Given the description of an element on the screen output the (x, y) to click on. 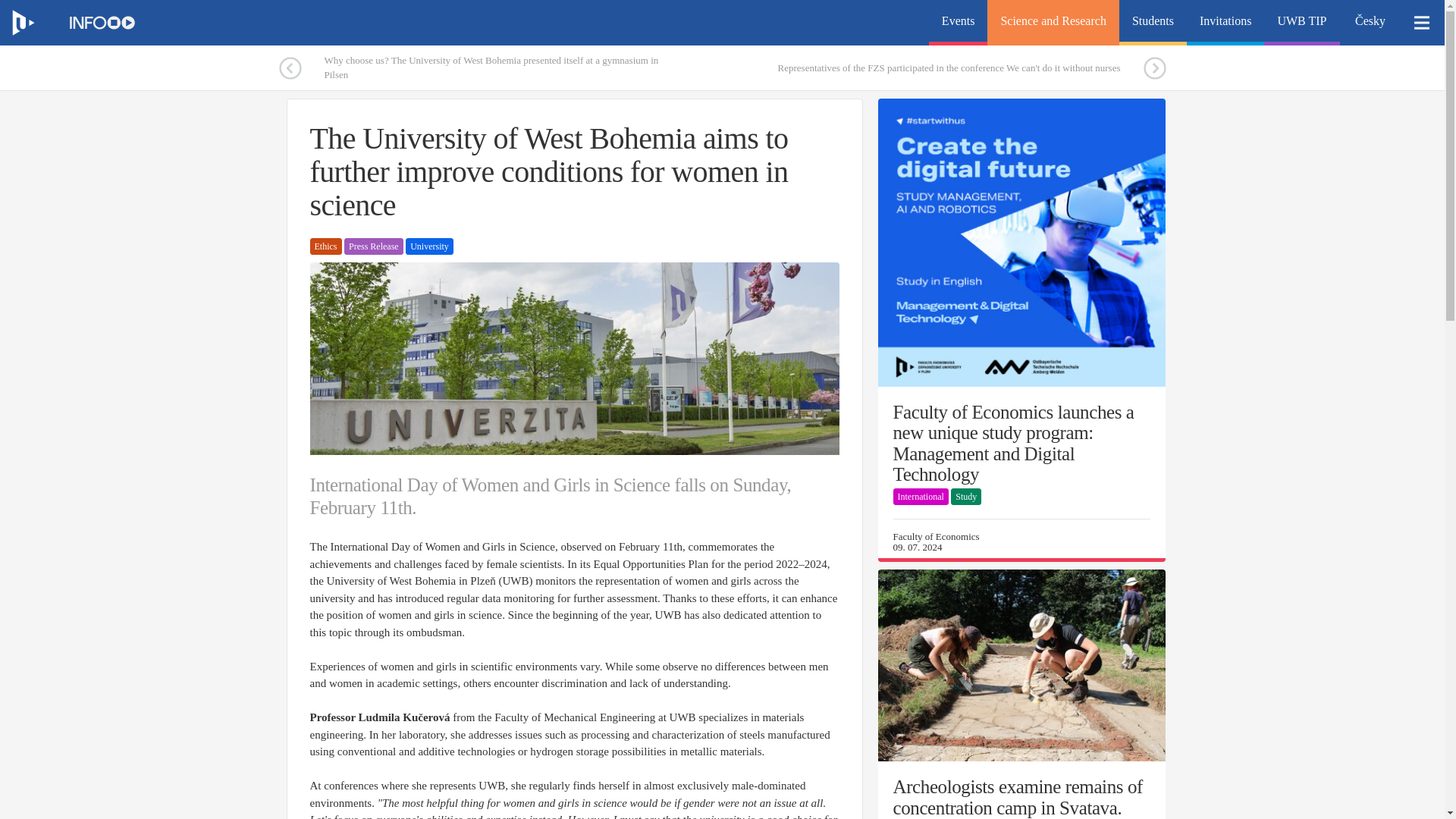
Events (958, 22)
Science and Research (1052, 22)
Invitations (1224, 22)
UWB TIP (1301, 22)
Study (965, 496)
Press Release (373, 246)
Students (1152, 22)
University (429, 246)
Ethics (324, 246)
International (921, 496)
